Given the description of an element on the screen output the (x, y) to click on. 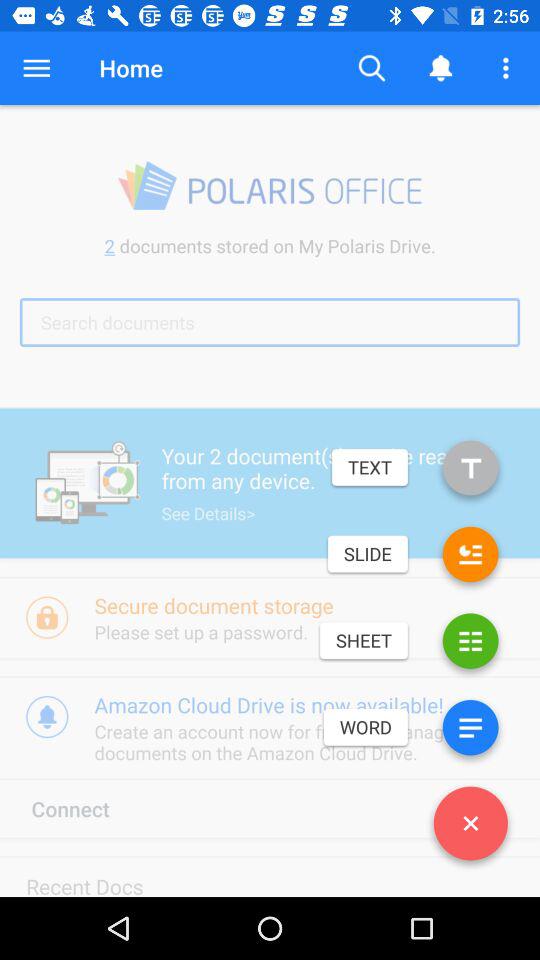
add text (470, 471)
